Given the description of an element on the screen output the (x, y) to click on. 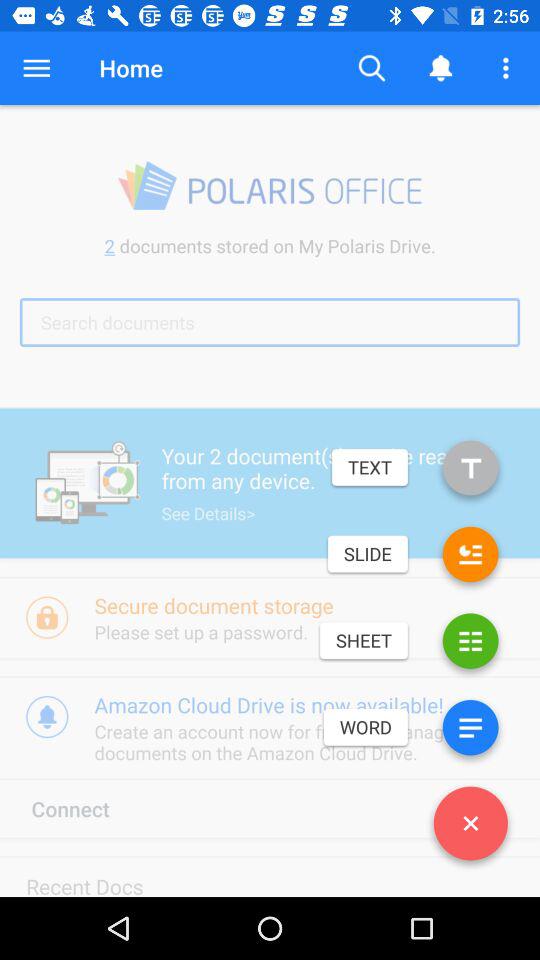
add text (470, 471)
